Given the description of an element on the screen output the (x, y) to click on. 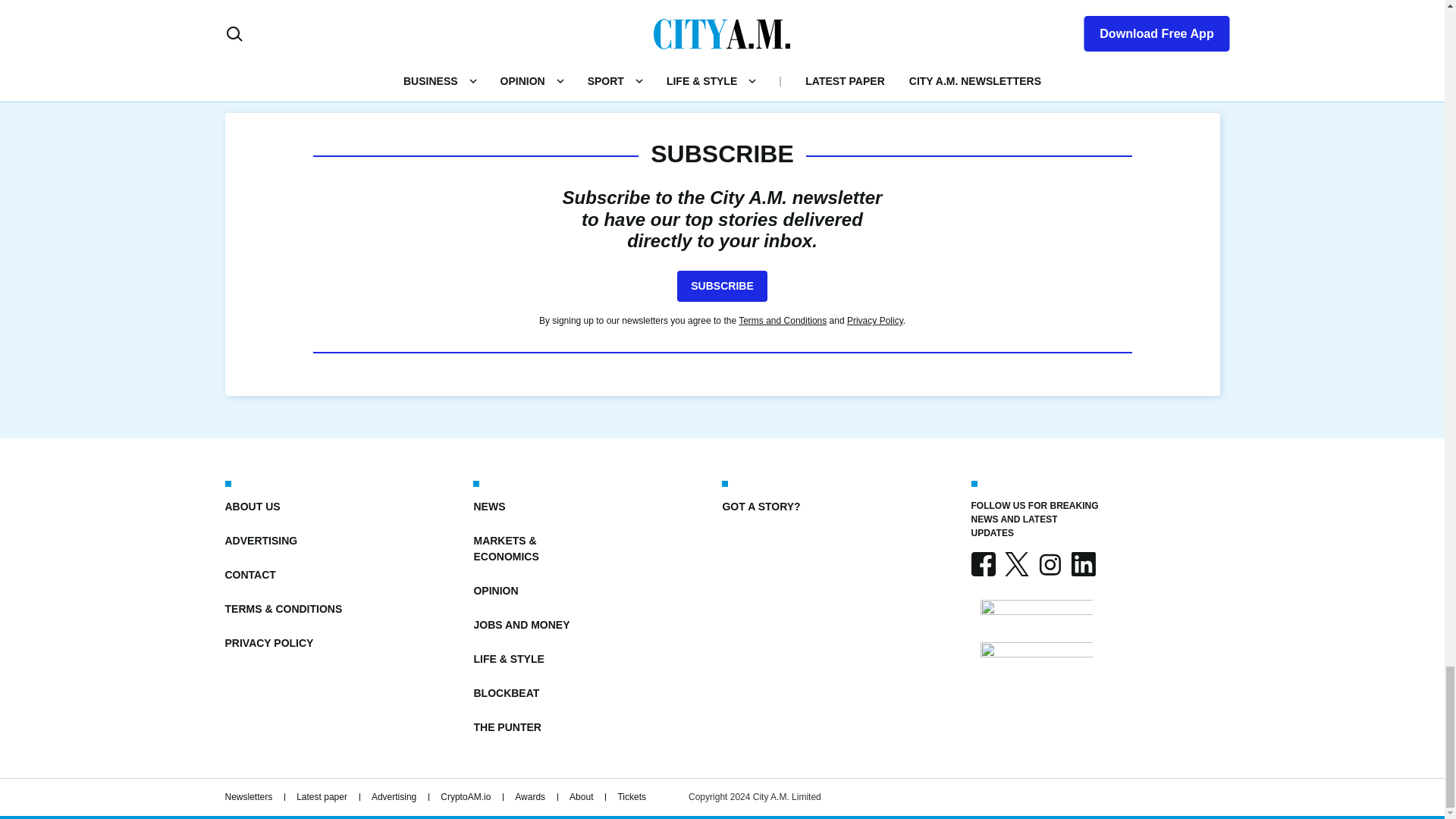
INSTAGRAM (1048, 564)
LINKEDIN (1082, 564)
X (1015, 564)
FACEBOOK (982, 564)
